Given the description of an element on the screen output the (x, y) to click on. 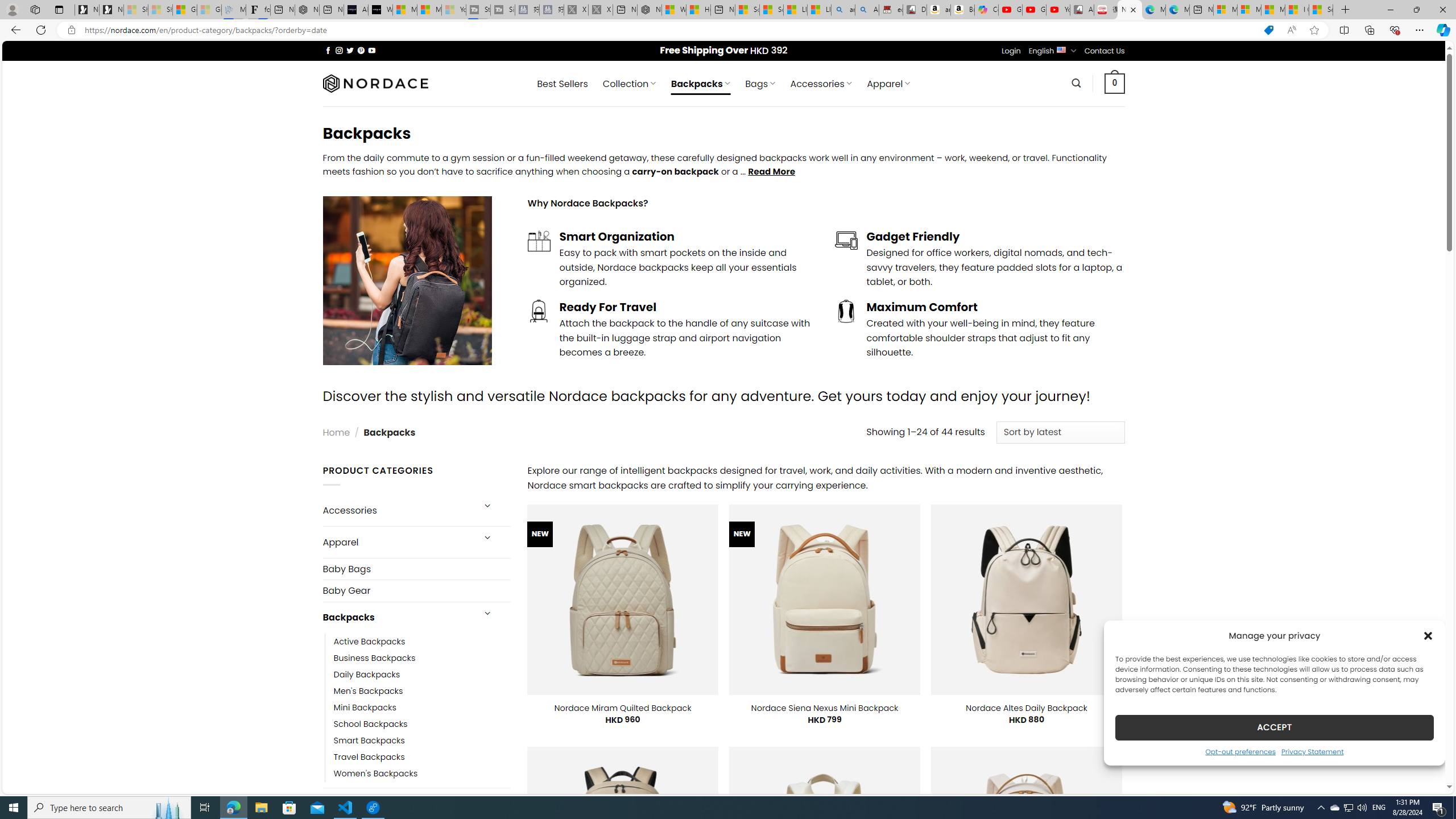
X - Sleeping (600, 9)
Mini Backpacks (364, 706)
Active Backpacks (369, 641)
Bags (397, 803)
Women's Backpacks (422, 773)
Read More (771, 171)
Microsoft Start Sports (404, 9)
